Given the description of an element on the screen output the (x, y) to click on. 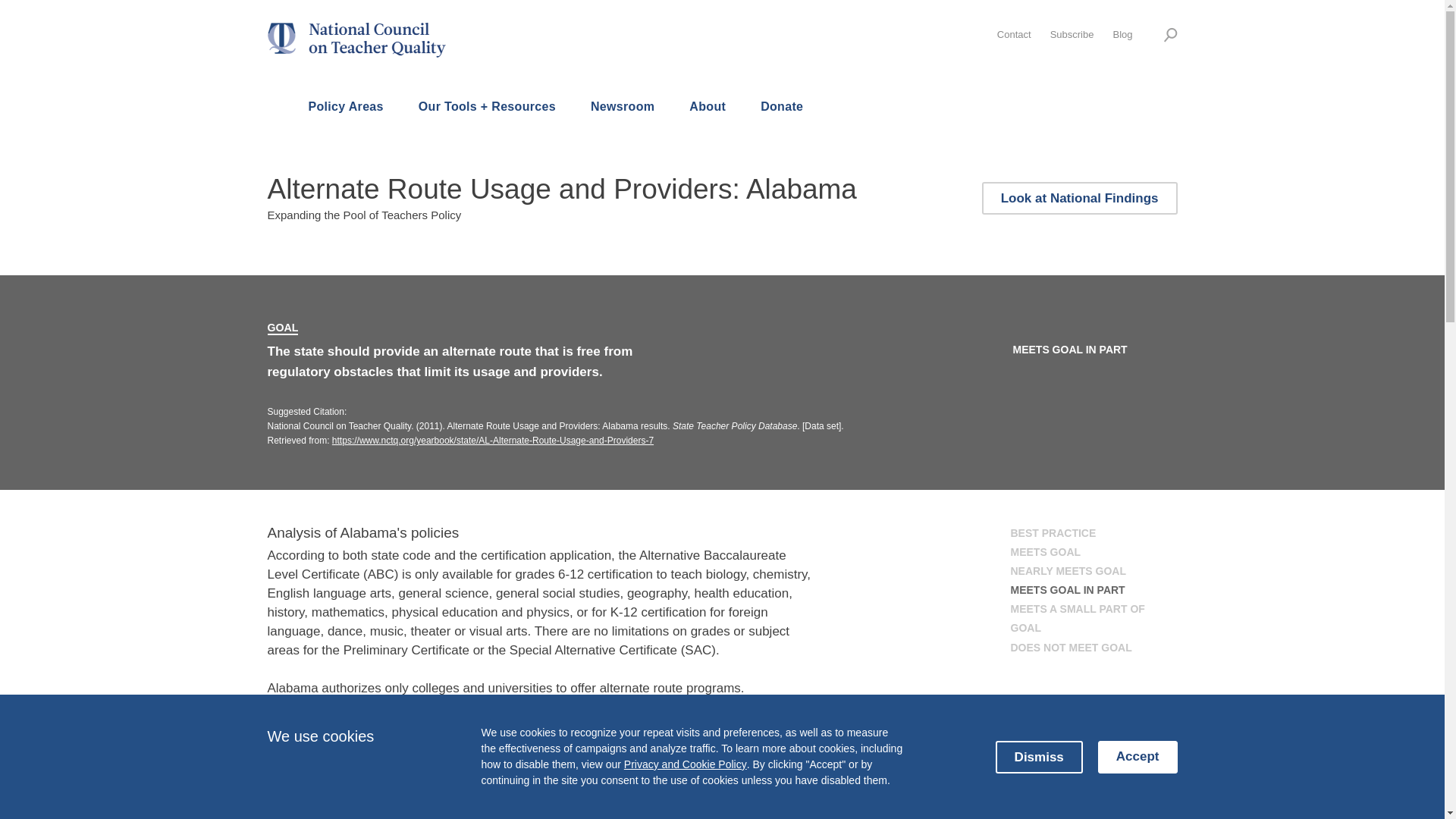
Policy Areas (345, 108)
Subscribe (1071, 34)
Blog (1122, 34)
Contact (1013, 34)
